Given the description of an element on the screen output the (x, y) to click on. 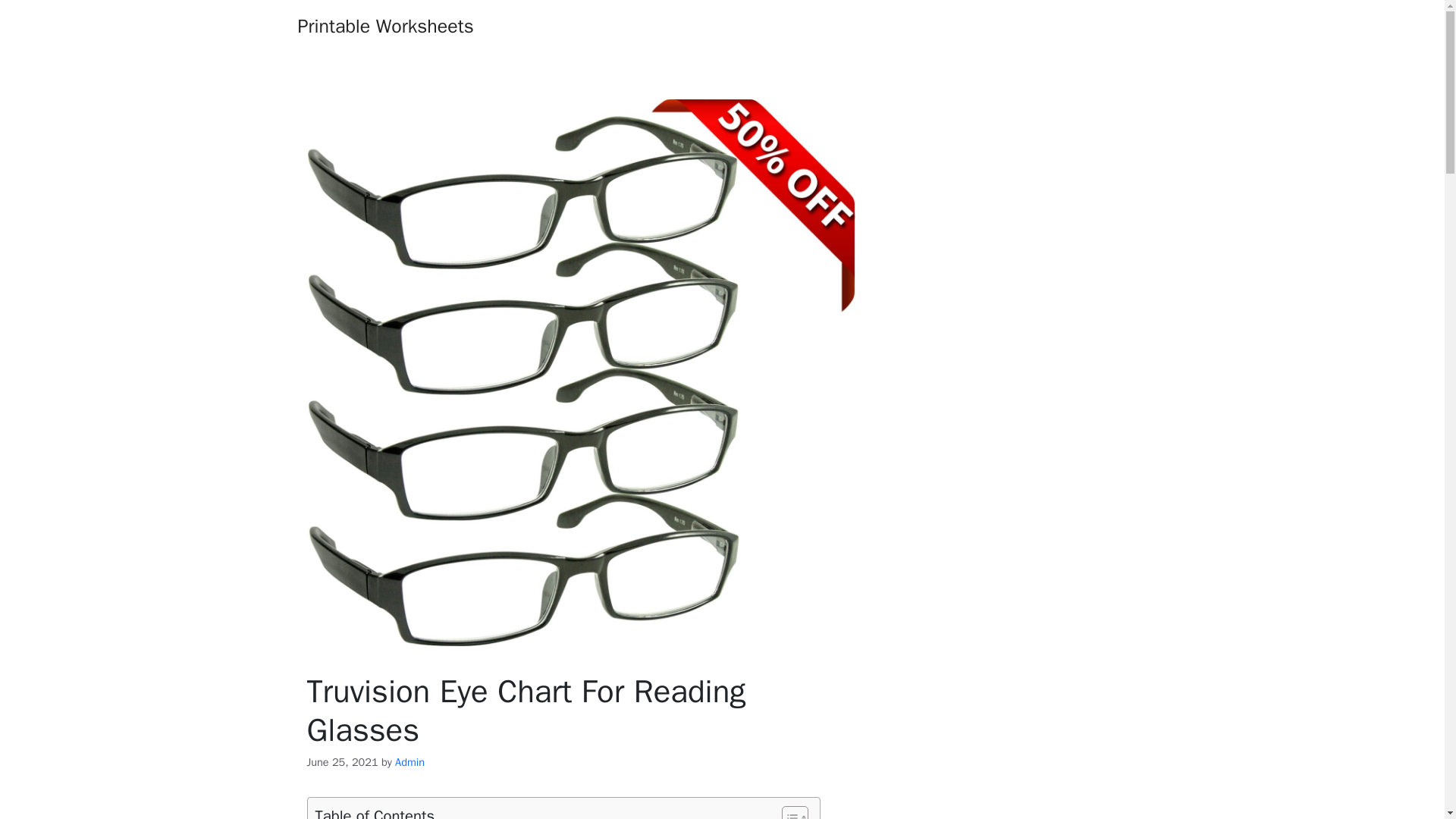
Admin (409, 762)
View all posts by Admin (409, 762)
Printable Worksheets (385, 25)
